Given the description of an element on the screen output the (x, y) to click on. 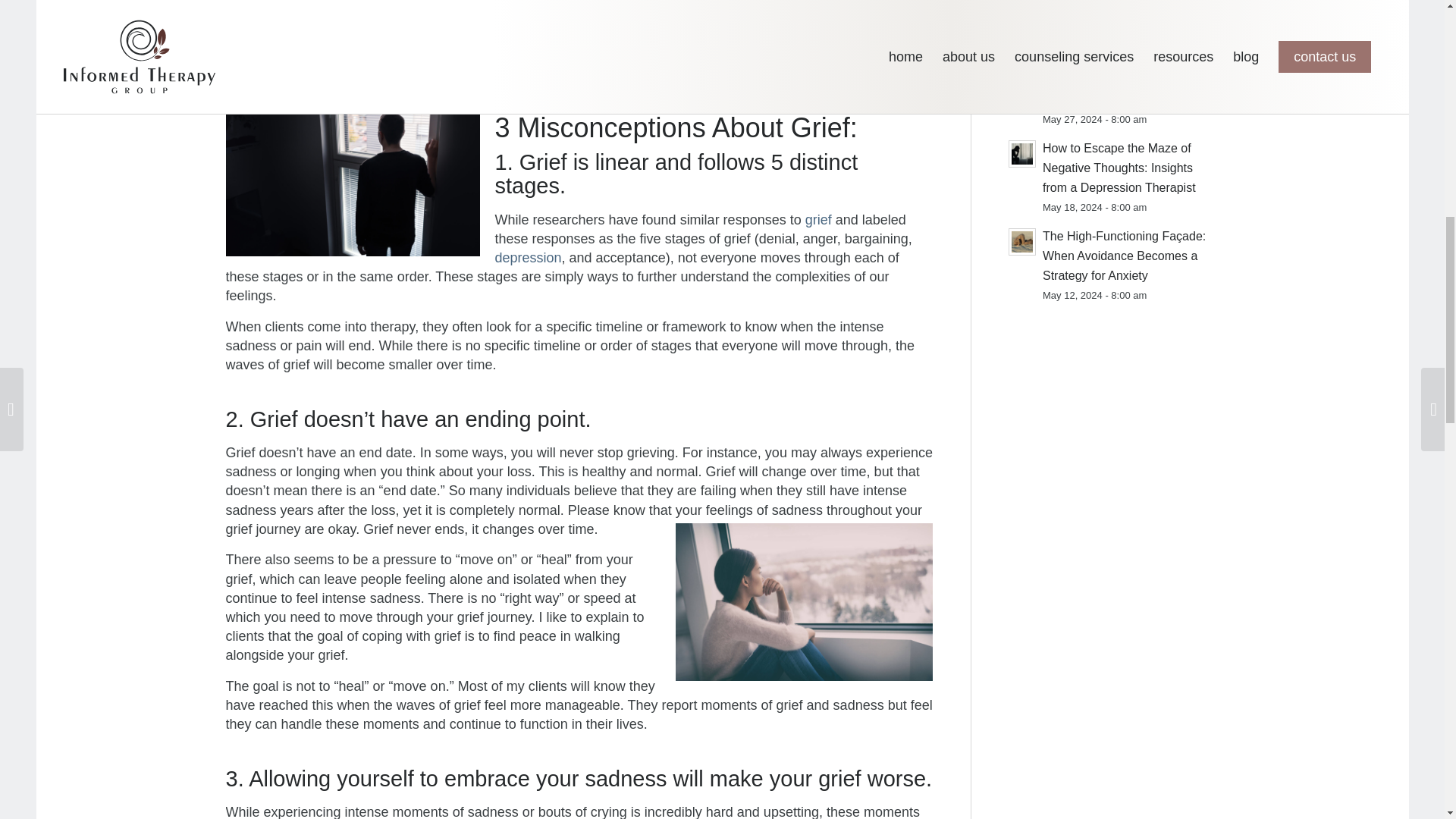
grief journeys can look very different for each person (624, 23)
depression (527, 257)
grief (818, 219)
